Given the description of an element on the screen output the (x, y) to click on. 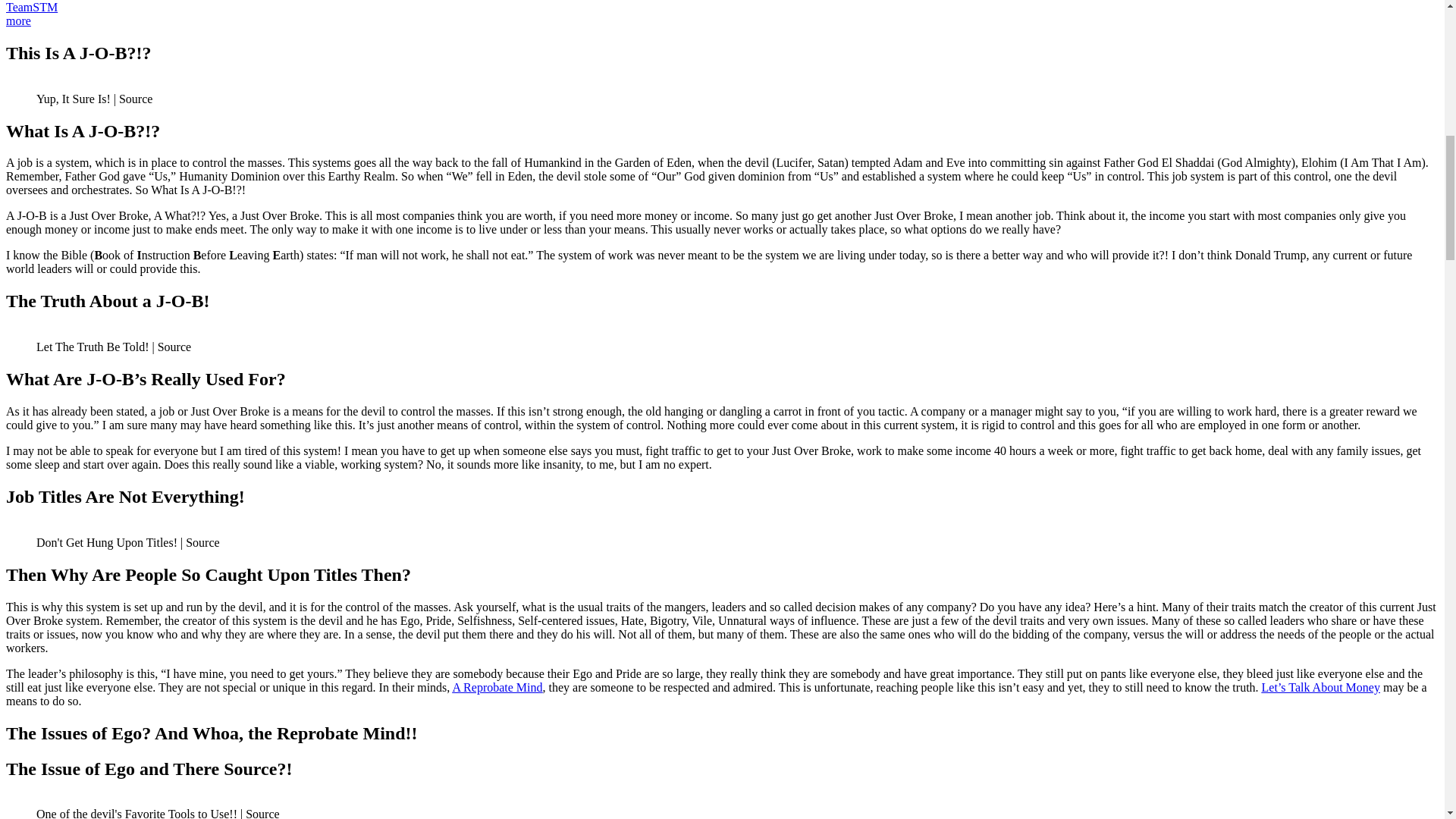
A Reprobate Mind (496, 686)
